Given the description of an element on the screen output the (x, y) to click on. 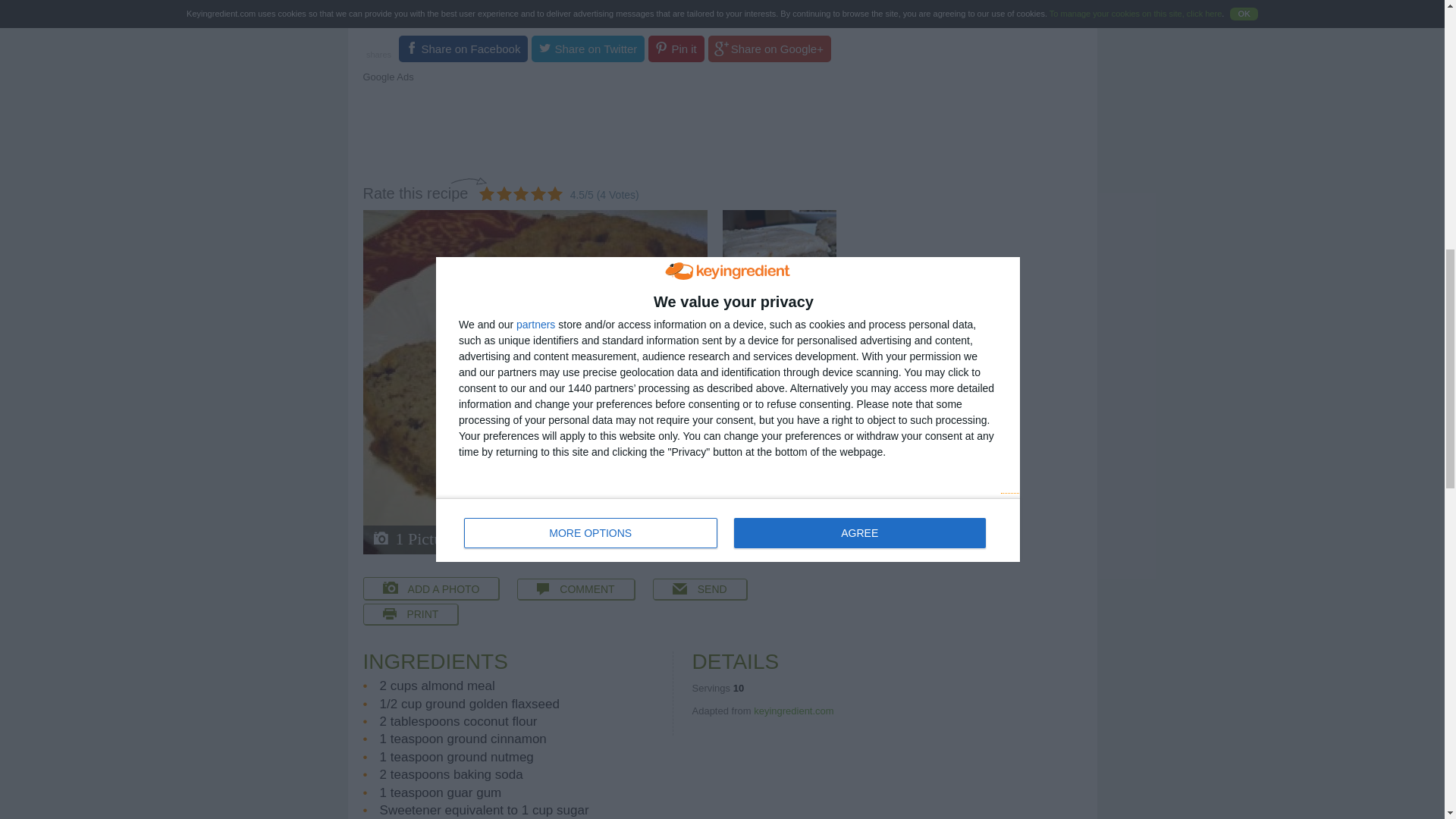
COMMENT (574, 588)
ADD A PHOTO (430, 588)
4 (537, 193)
Pin it (675, 49)
SEND (699, 588)
2 (504, 193)
Share on Facebook (463, 49)
5 (554, 193)
Share on Twitter (588, 49)
1 (487, 193)
3 (520, 193)
PRINT (410, 613)
